Given the description of an element on the screen output the (x, y) to click on. 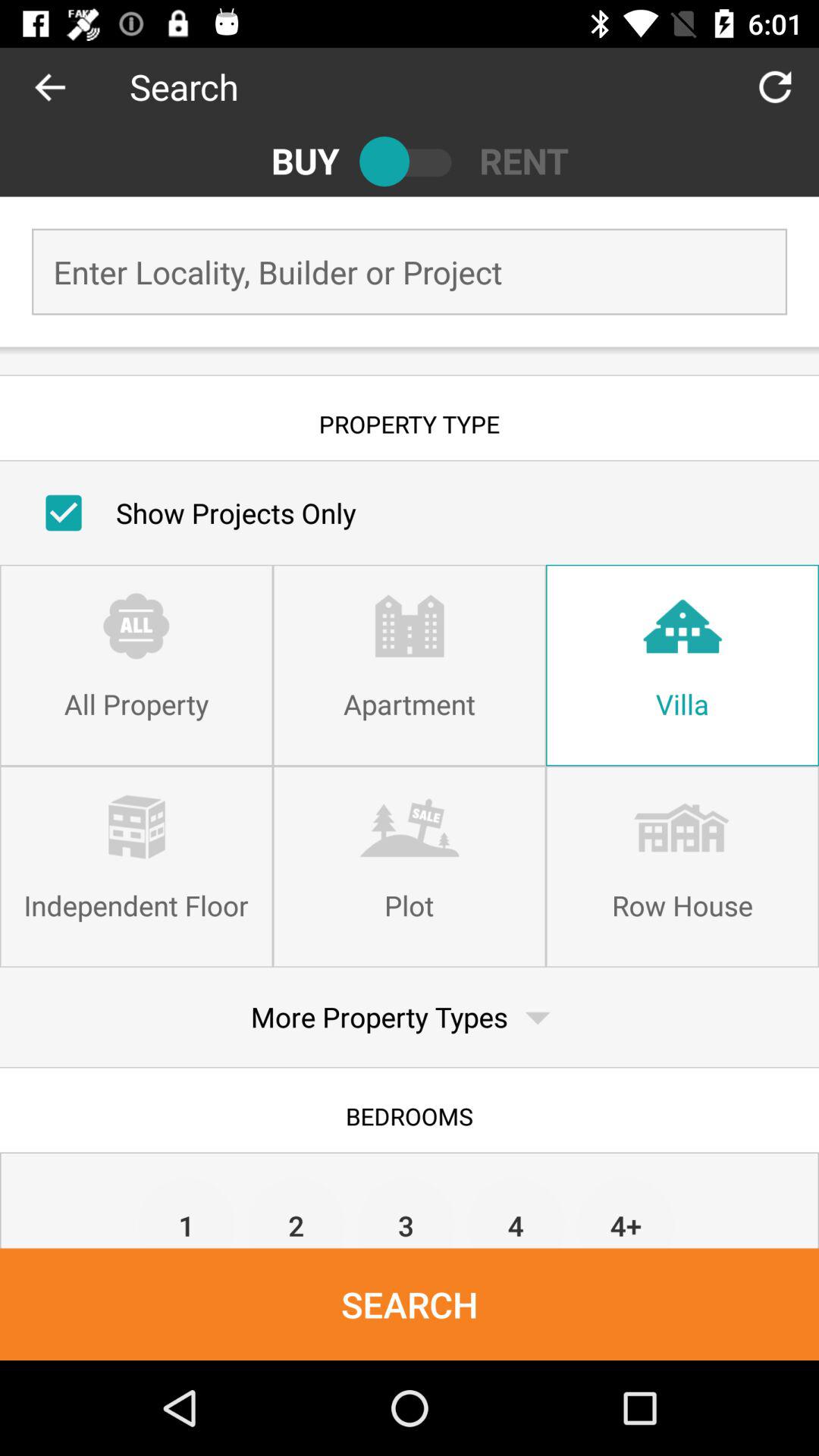
select the icon above the search item (296, 1212)
